Given the description of an element on the screen output the (x, y) to click on. 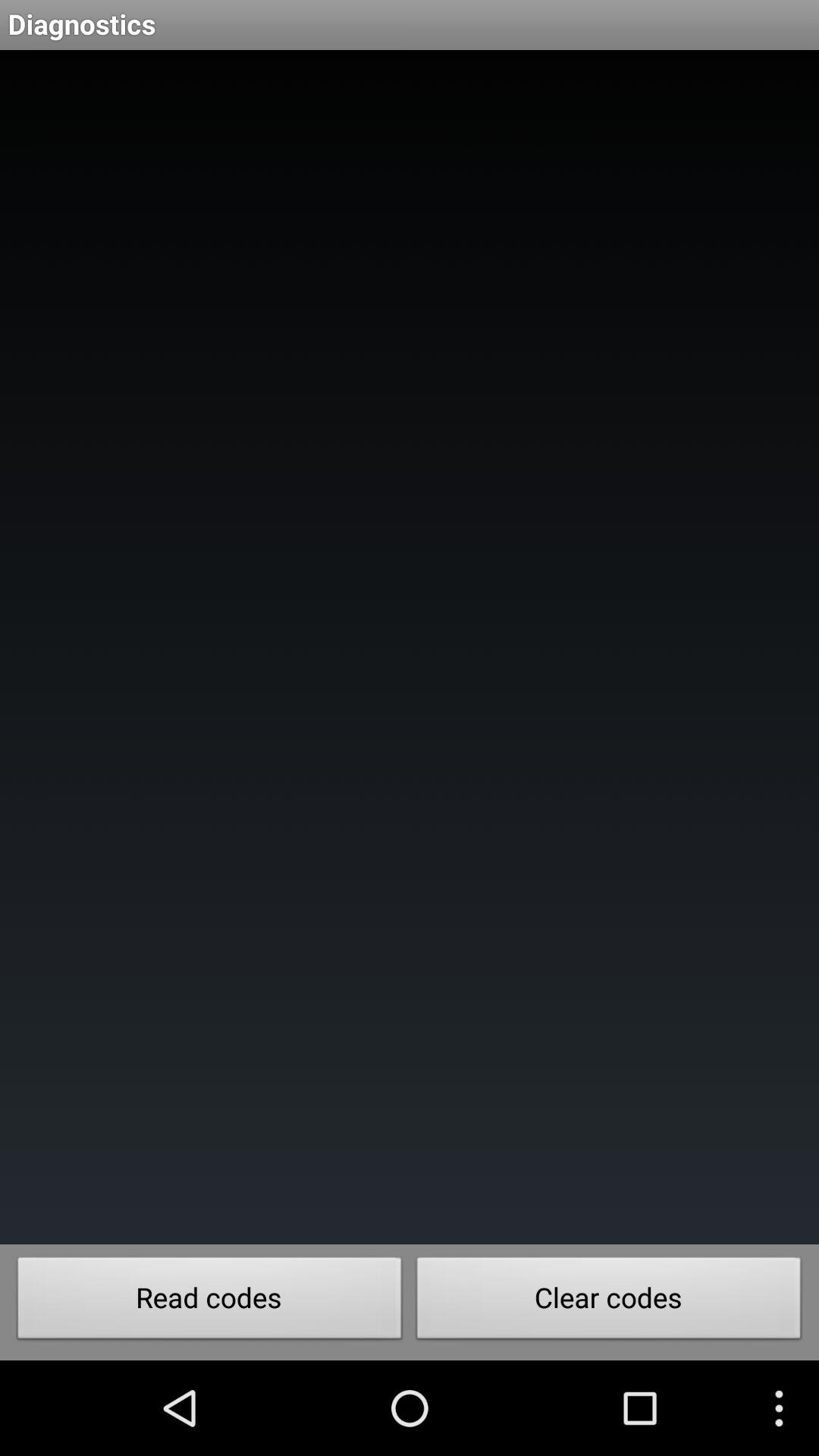
jump until the clear codes (608, 1302)
